Given the description of an element on the screen output the (x, y) to click on. 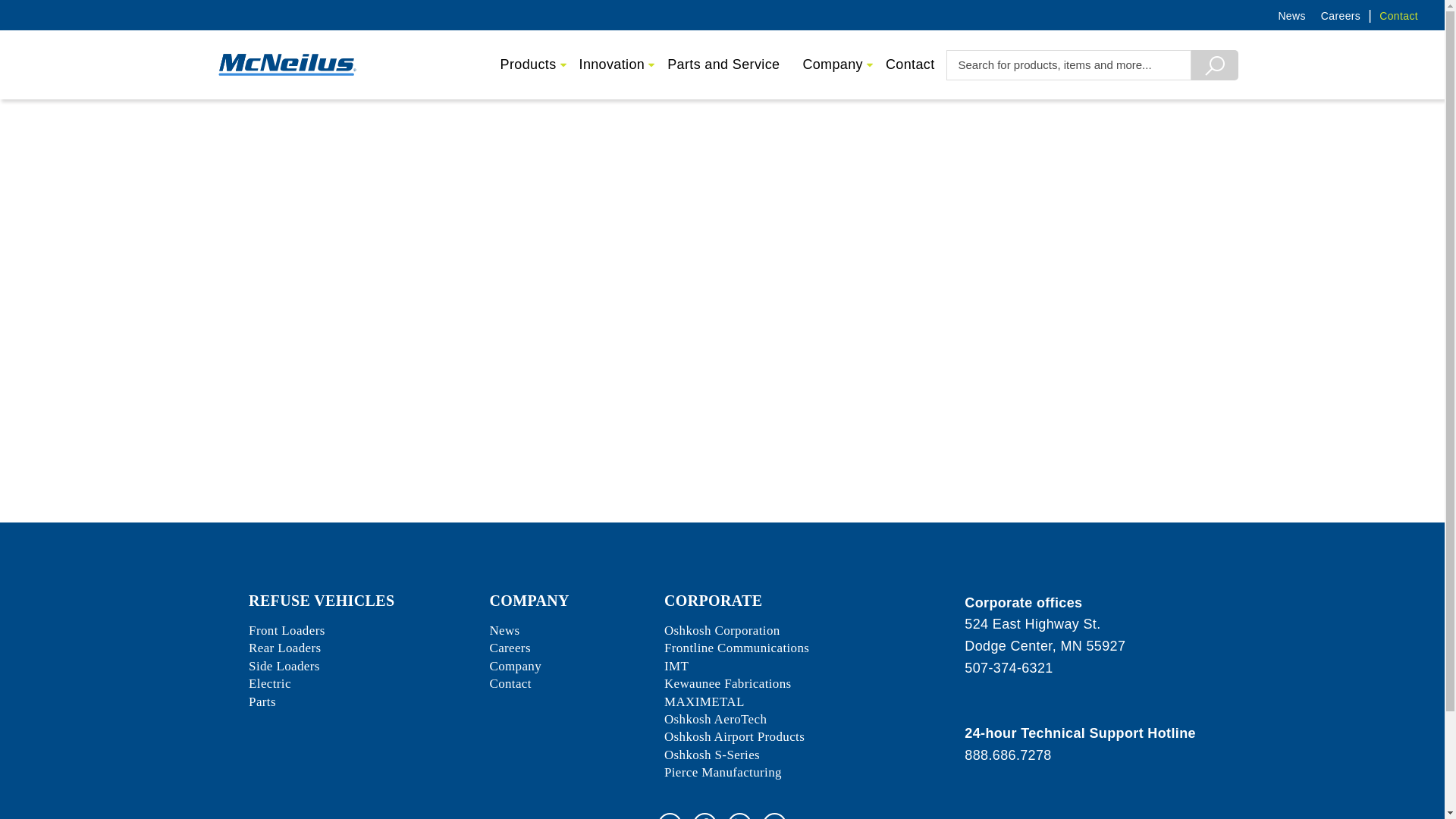
Contact (910, 64)
McNeilus-color (286, 64)
Parts and Service (723, 64)
Contact (1391, 15)
Careers (1332, 15)
Products (528, 64)
REFUSE VEHICLES (321, 600)
Front Loaders (286, 630)
Company (832, 64)
Innovation (611, 64)
News (1283, 15)
